Given the description of an element on the screen output the (x, y) to click on. 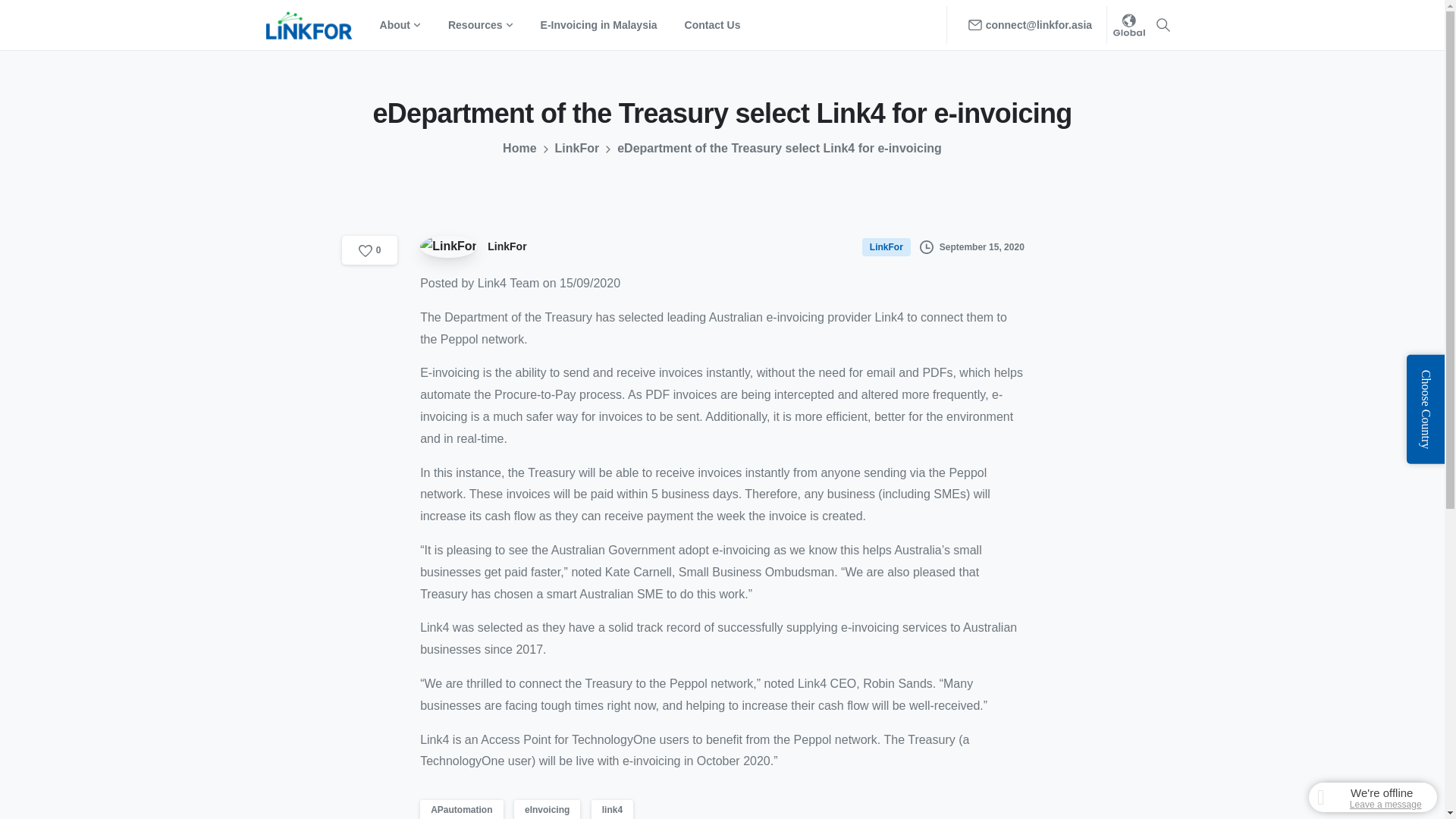
LinkFor (576, 148)
LinkFor (477, 246)
0 (369, 250)
Resources (480, 25)
Resources (480, 25)
Like this (369, 250)
About (400, 25)
Home (518, 148)
September 15, 2020 (972, 246)
APautomation (461, 809)
Contact Us (712, 25)
LinkFor (887, 245)
E-Invoicing in Malaysia (598, 25)
link4 (612, 809)
Contact Us (712, 25)
